Given the description of an element on the screen output the (x, y) to click on. 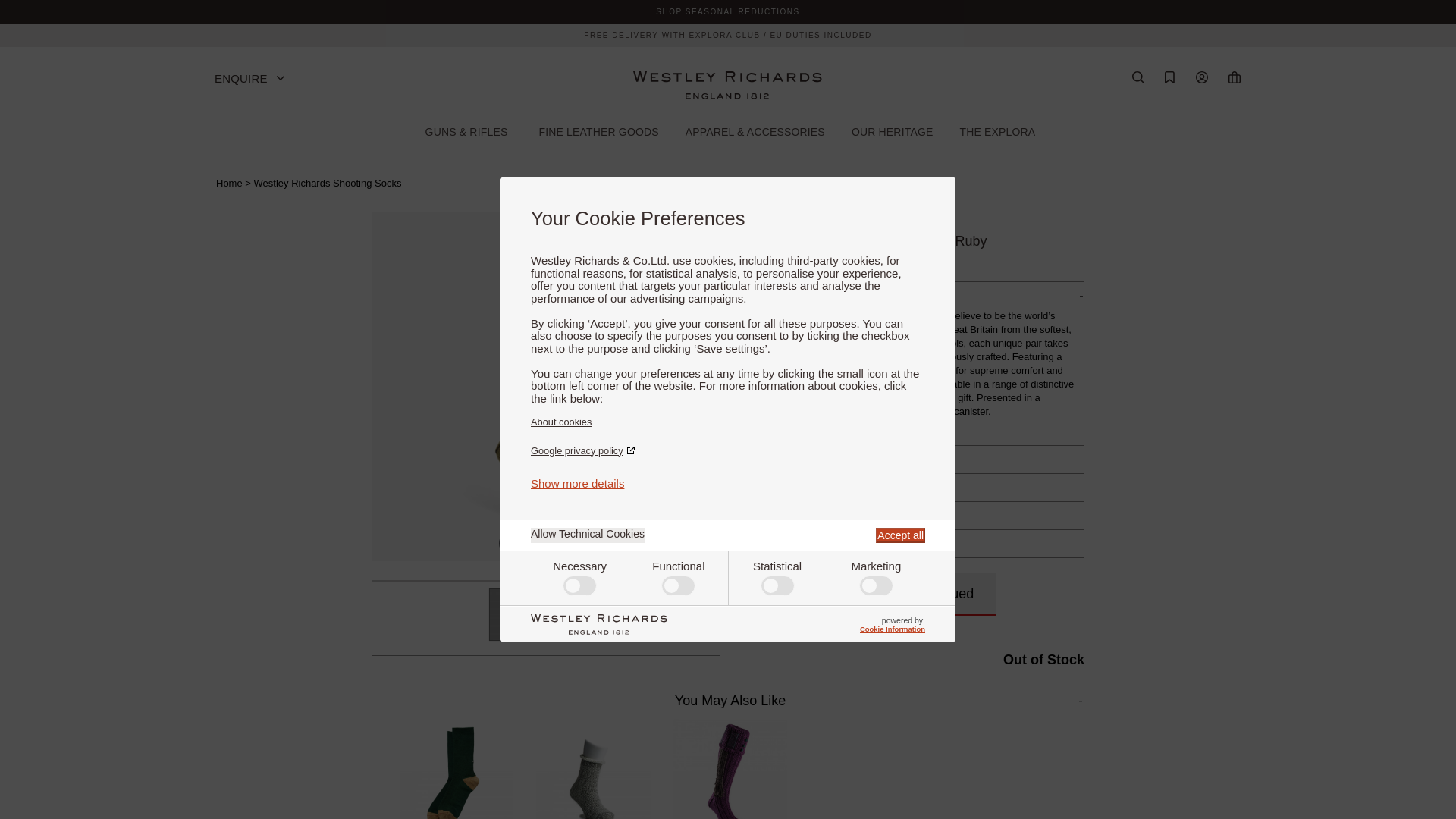
Google privacy policy (727, 450)
Show more details (577, 482)
About cookies (727, 421)
